Given the description of an element on the screen output the (x, y) to click on. 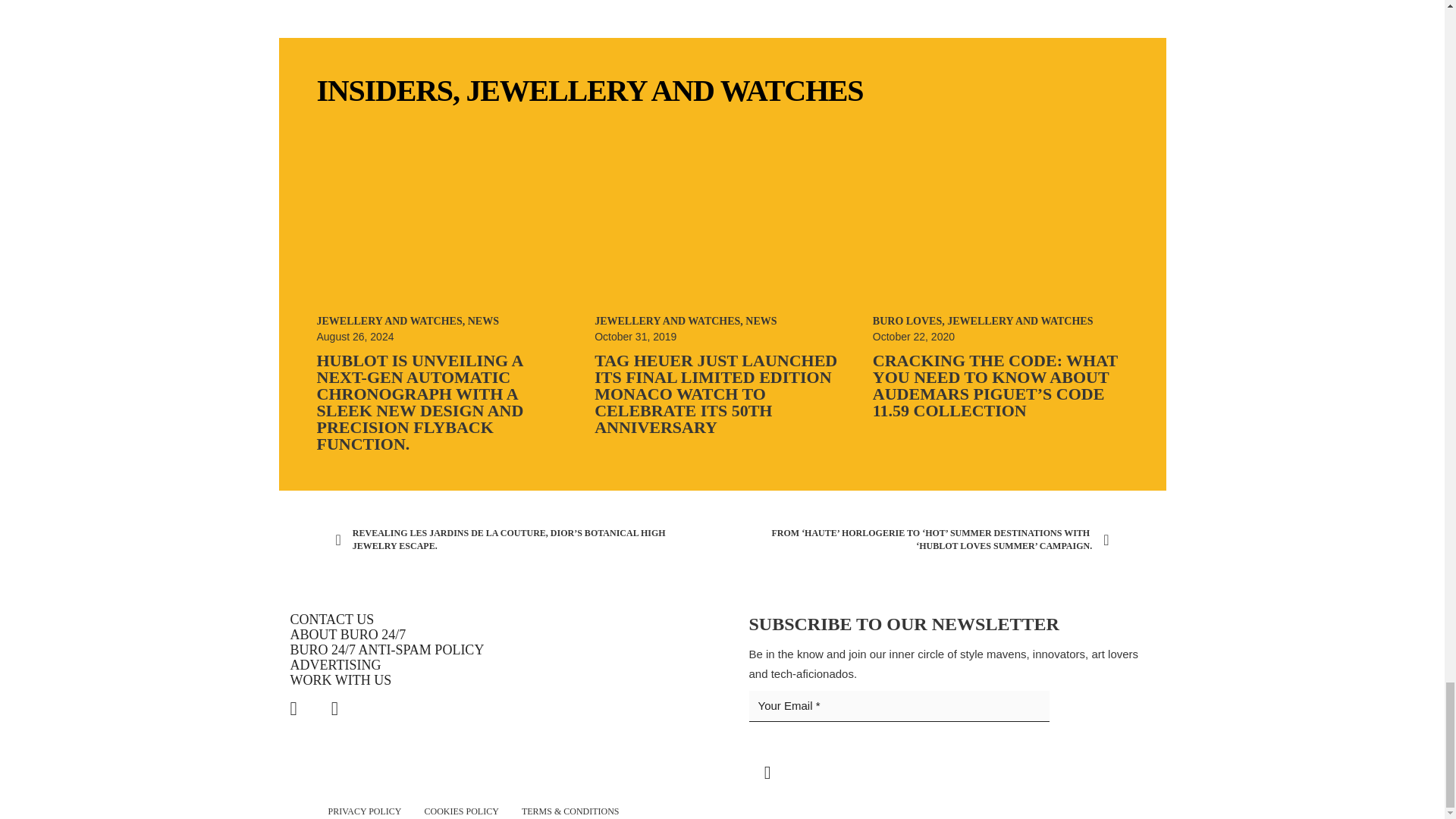
NEWS (483, 320)
JEWELLERY AND WATCHES (390, 320)
JEWELLERY AND WATCHES (664, 90)
INSIDERS (384, 90)
